Given the description of an element on the screen output the (x, y) to click on. 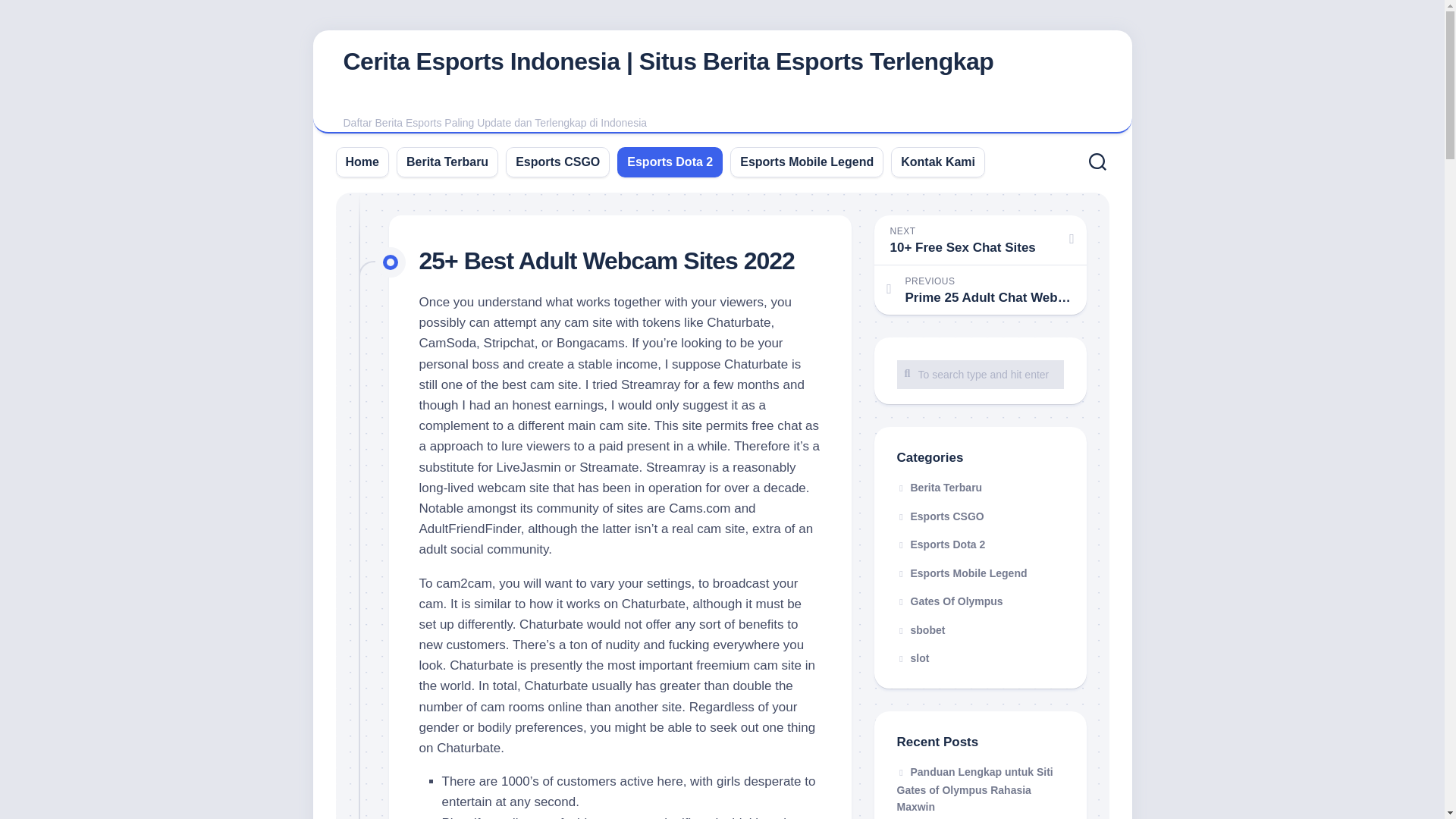
Esports Mobile Legend (961, 573)
Esports CSGO (557, 161)
Gates Of Olympus (949, 601)
Berita Terbaru (446, 161)
Berita Terbaru (938, 487)
Esports CSGO (940, 515)
To search type and hit enter (979, 373)
To search type and hit enter (979, 373)
Esports Dota 2 (670, 161)
